Given the description of an element on the screen output the (x, y) to click on. 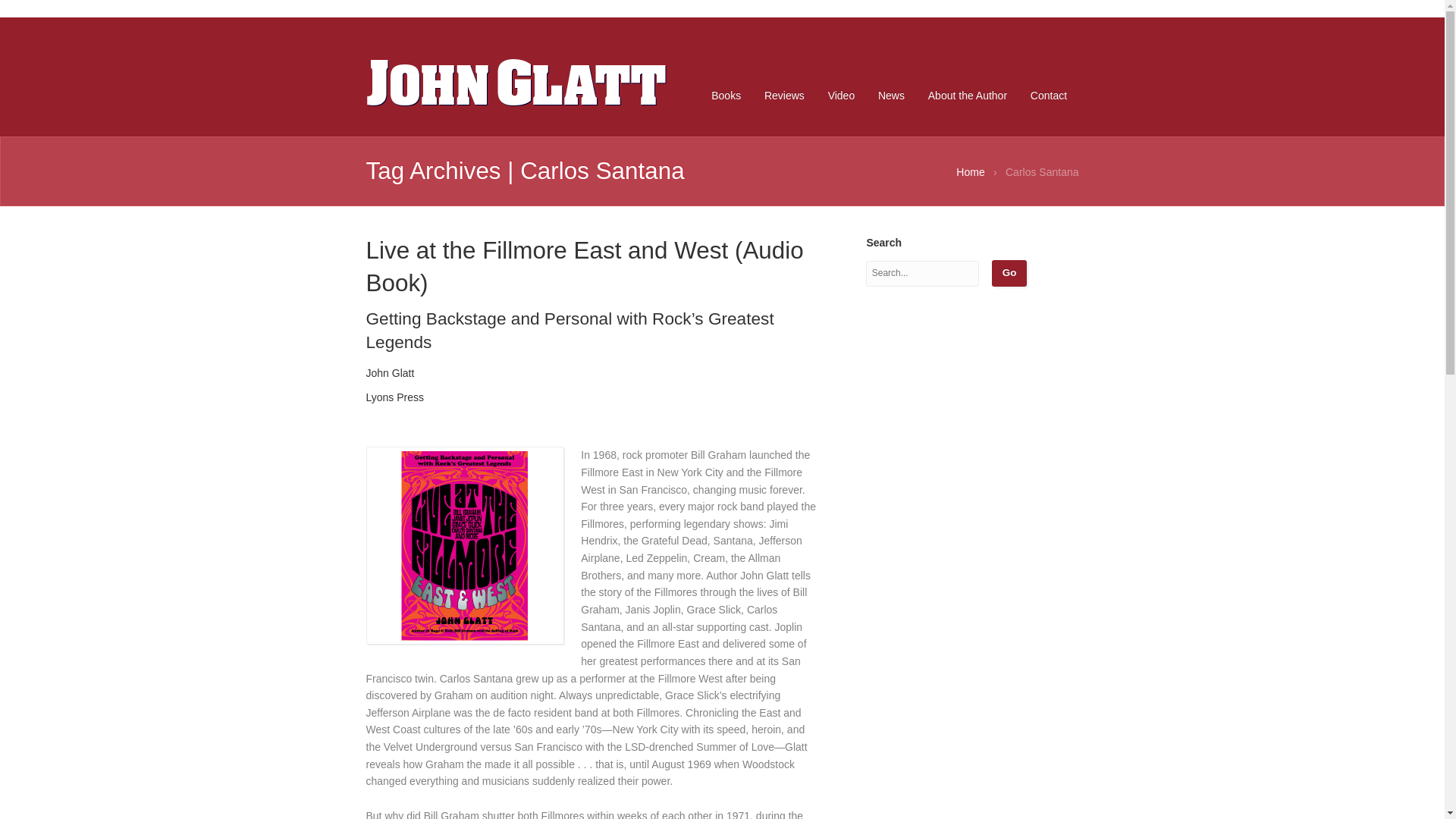
Go (1008, 272)
Video (841, 95)
About the Author (967, 95)
Go (1008, 272)
John Glatt (970, 172)
Contact (1048, 95)
News (891, 95)
Home (970, 172)
True Crime and Biographies (516, 82)
Reviews (784, 95)
Books (725, 95)
Go (1008, 272)
